Given the description of an element on the screen output the (x, y) to click on. 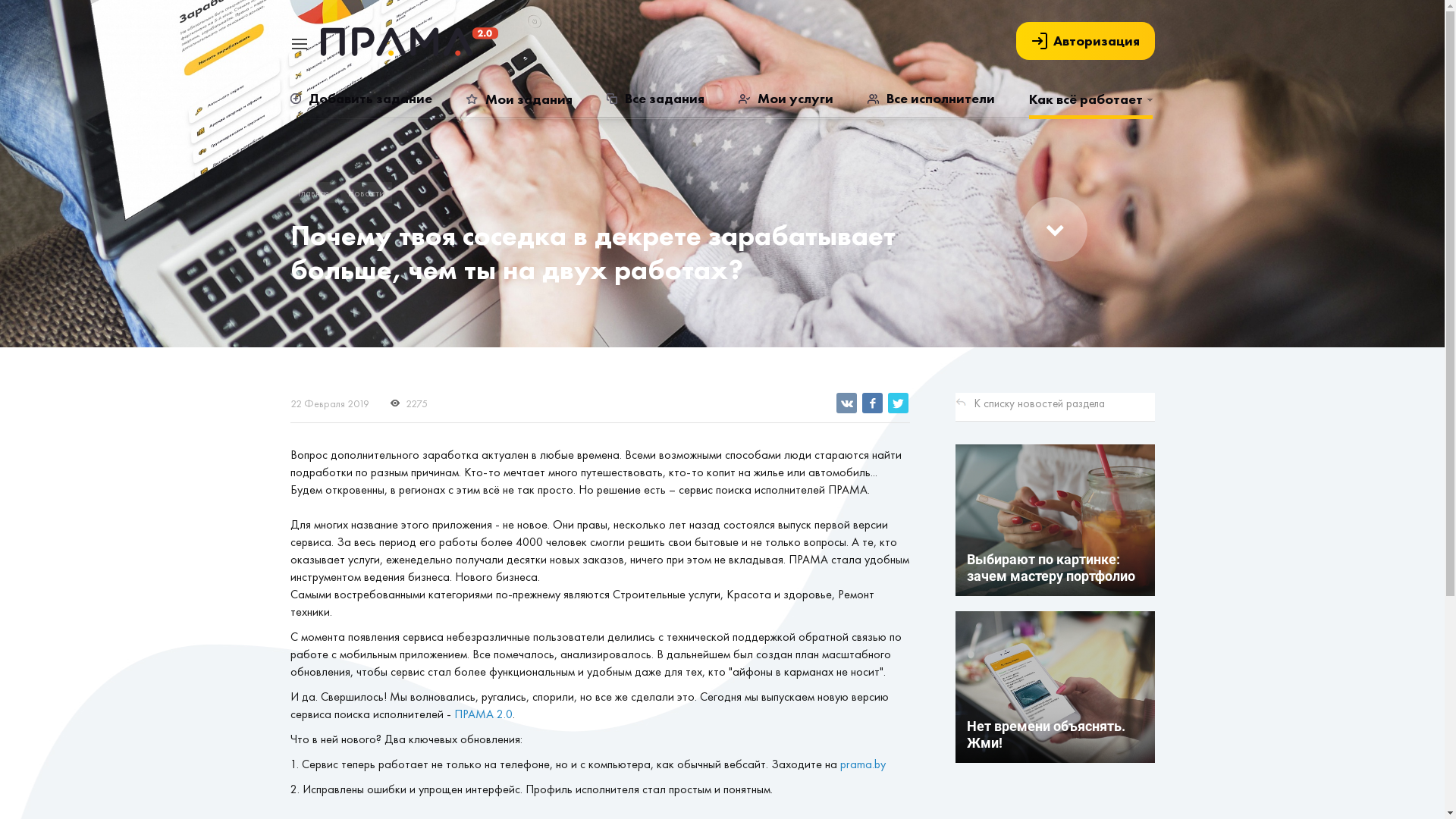
prama.by Element type: text (862, 763)
